Given the description of an element on the screen output the (x, y) to click on. 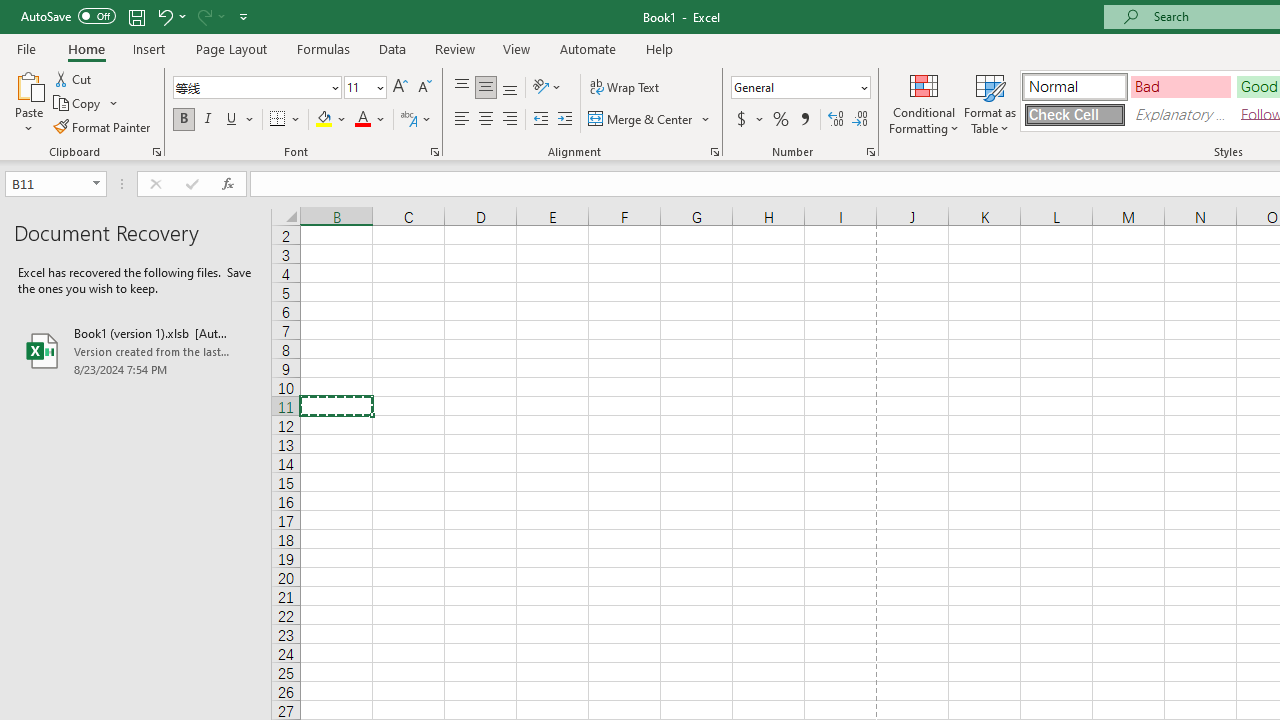
Office Clipboard... (156, 151)
Decrease Font Size (424, 87)
Format as Table (990, 102)
Align Right (509, 119)
Cut (73, 78)
Top Align (461, 87)
Bold (183, 119)
Paste (28, 102)
Italic (207, 119)
Middle Align (485, 87)
